Given the description of an element on the screen output the (x, y) to click on. 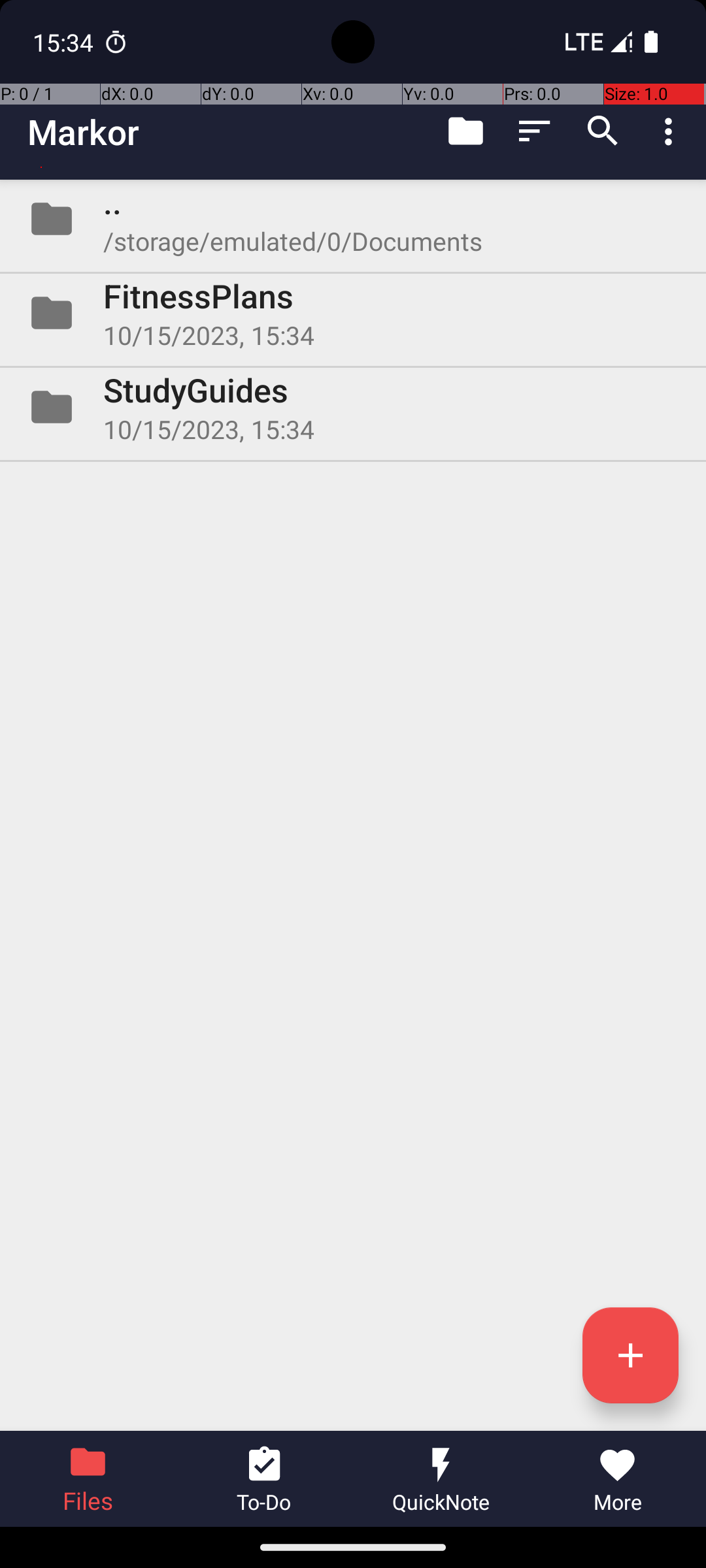
Folder FitnessPlans  Element type: android.widget.LinearLayout (353, 312)
Folder StudyGuides  Element type: android.widget.LinearLayout (353, 406)
